Given the description of an element on the screen output the (x, y) to click on. 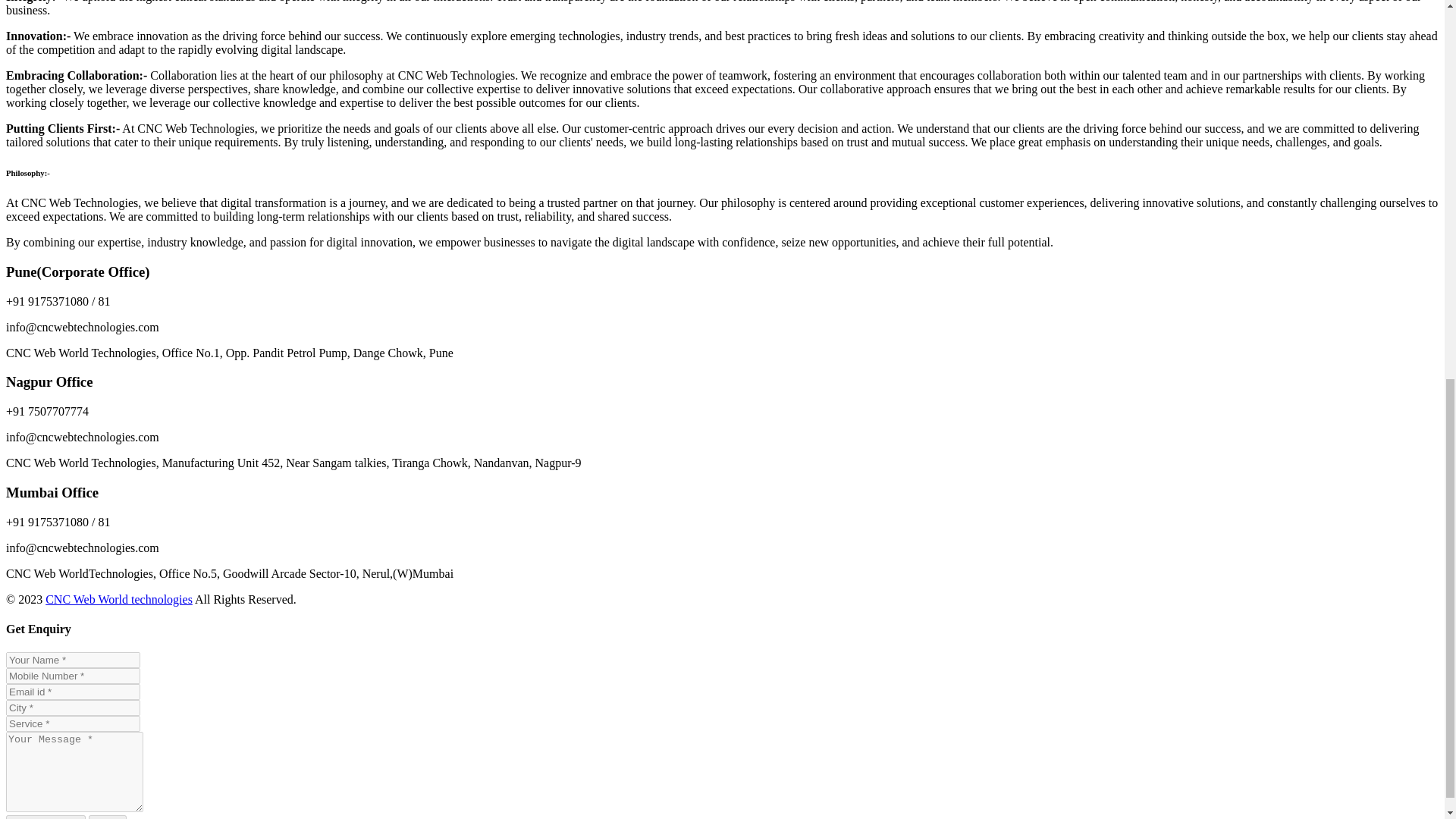
CNC Web World technologies (118, 599)
